Given the description of an element on the screen output the (x, y) to click on. 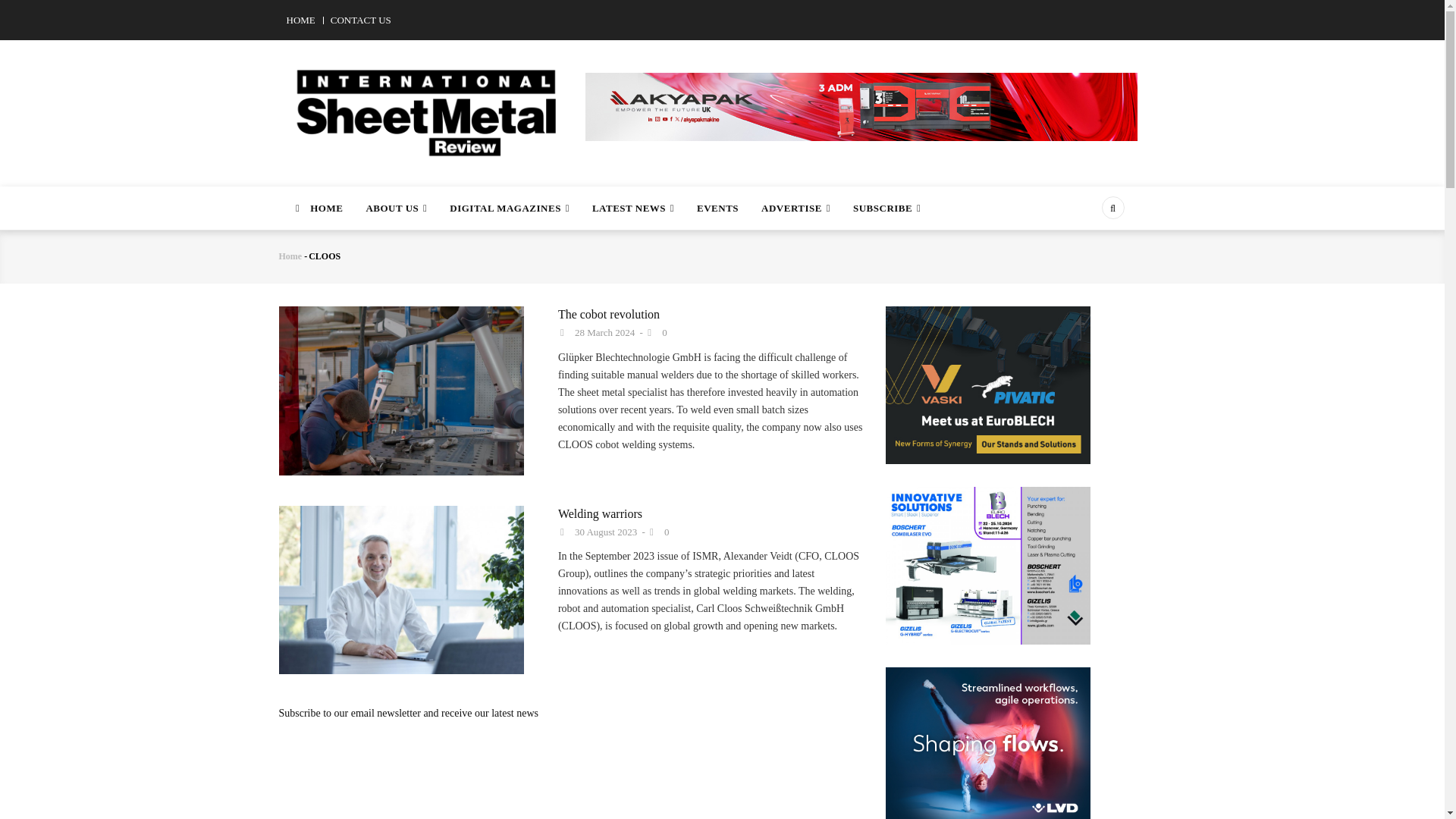
Home (427, 103)
ABOUT US (395, 208)
Akyapak advert (861, 105)
HOME (301, 19)
HOME (317, 208)
CONTACT US (360, 19)
LATEST NEWS (632, 208)
DIGITAL MAGAZINES (509, 208)
